Given the description of an element on the screen output the (x, y) to click on. 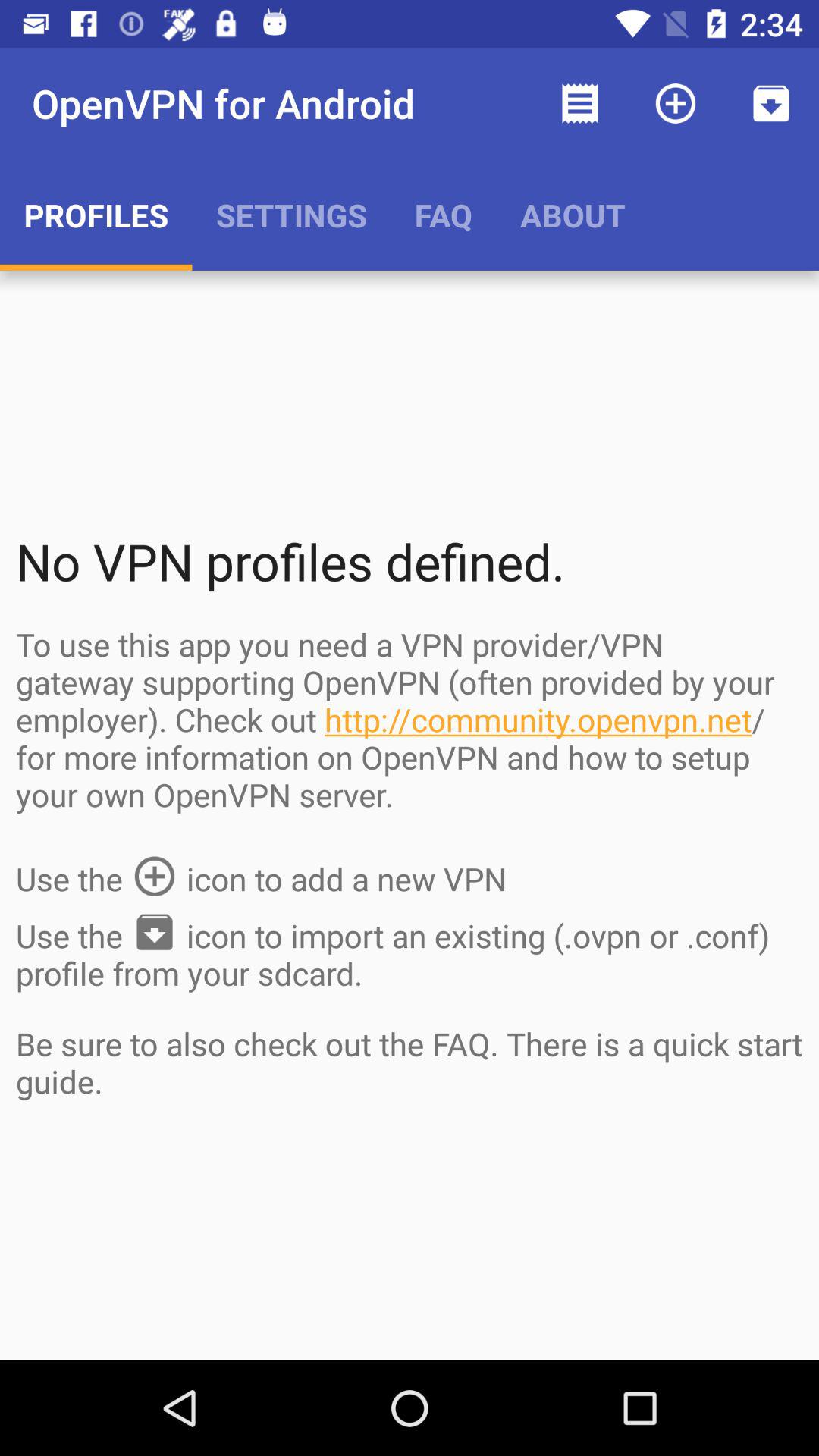
tap the app to the right of faq app (579, 103)
